Given the description of an element on the screen output the (x, y) to click on. 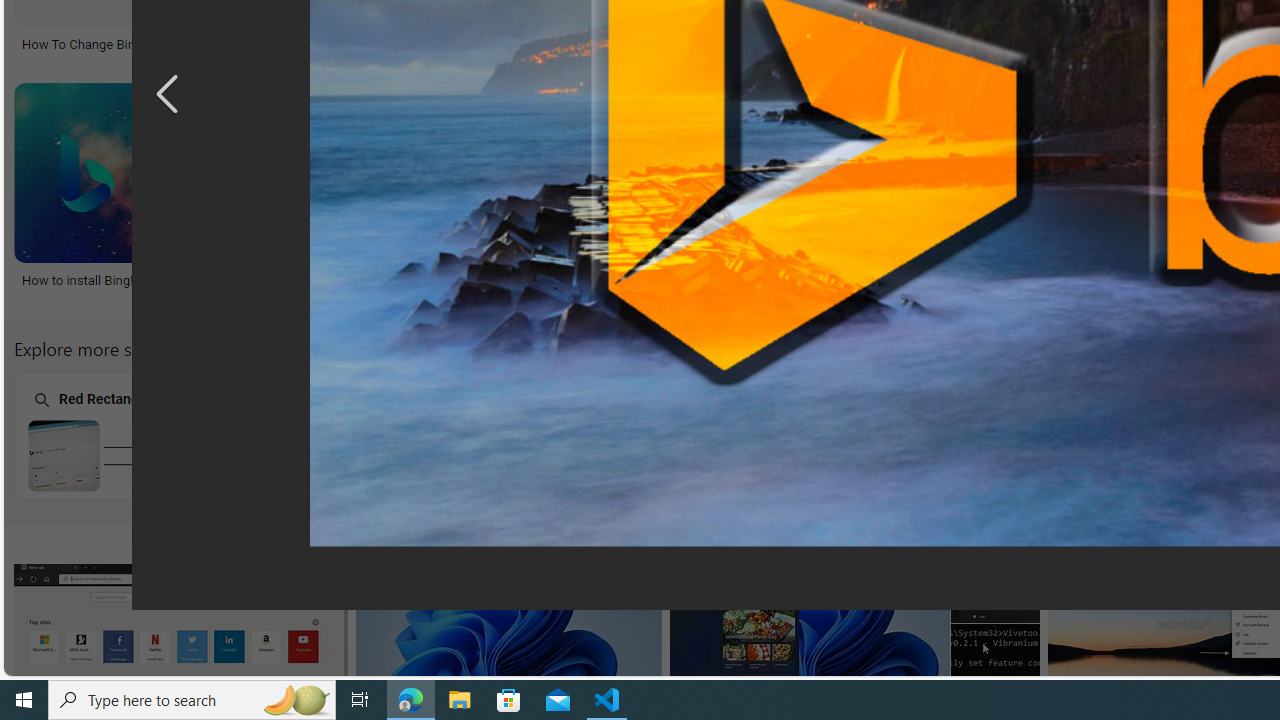
Red Rectangle (138, 435)
Bing Search Bar On Home Screen Home Screen (907, 435)
Special Characters (395, 435)
